Given the description of an element on the screen output the (x, y) to click on. 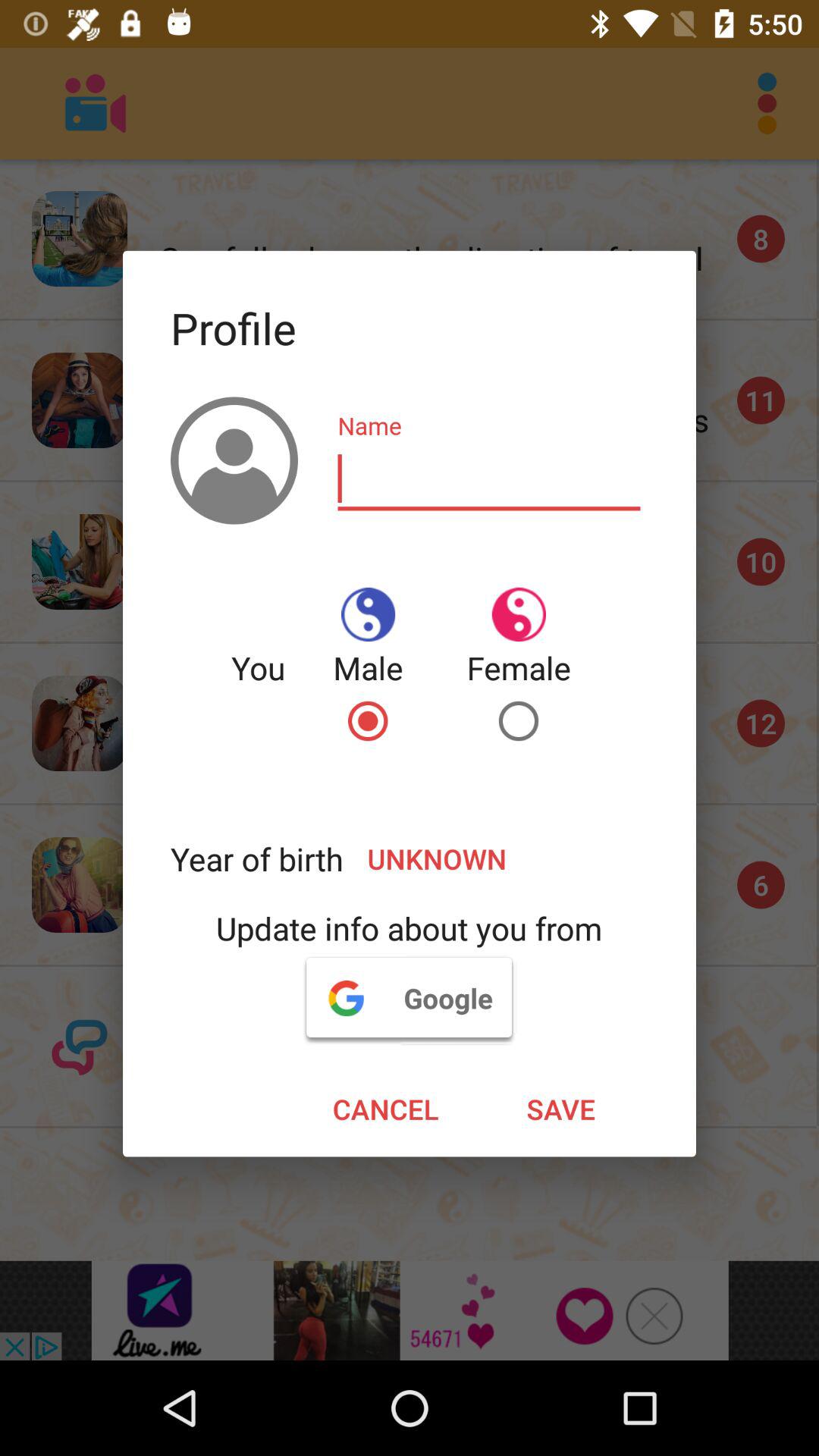
open the item above the save item (408, 997)
